Given the description of an element on the screen output the (x, y) to click on. 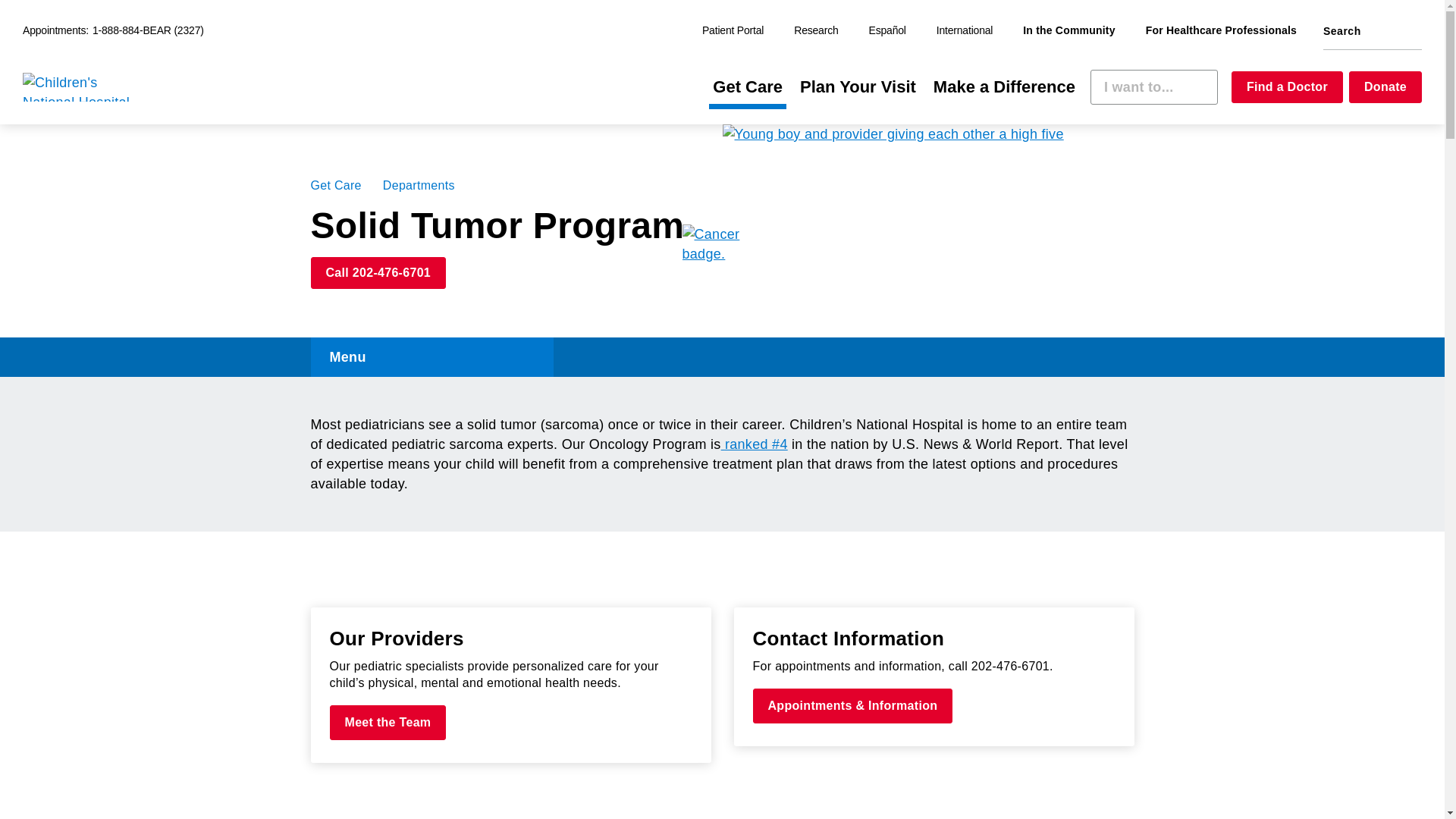
For Healthcare Professionals (1220, 30)
In the Community (1068, 30)
Research (815, 30)
International (964, 30)
Patient Portal (732, 30)
